Given the description of an element on the screen output the (x, y) to click on. 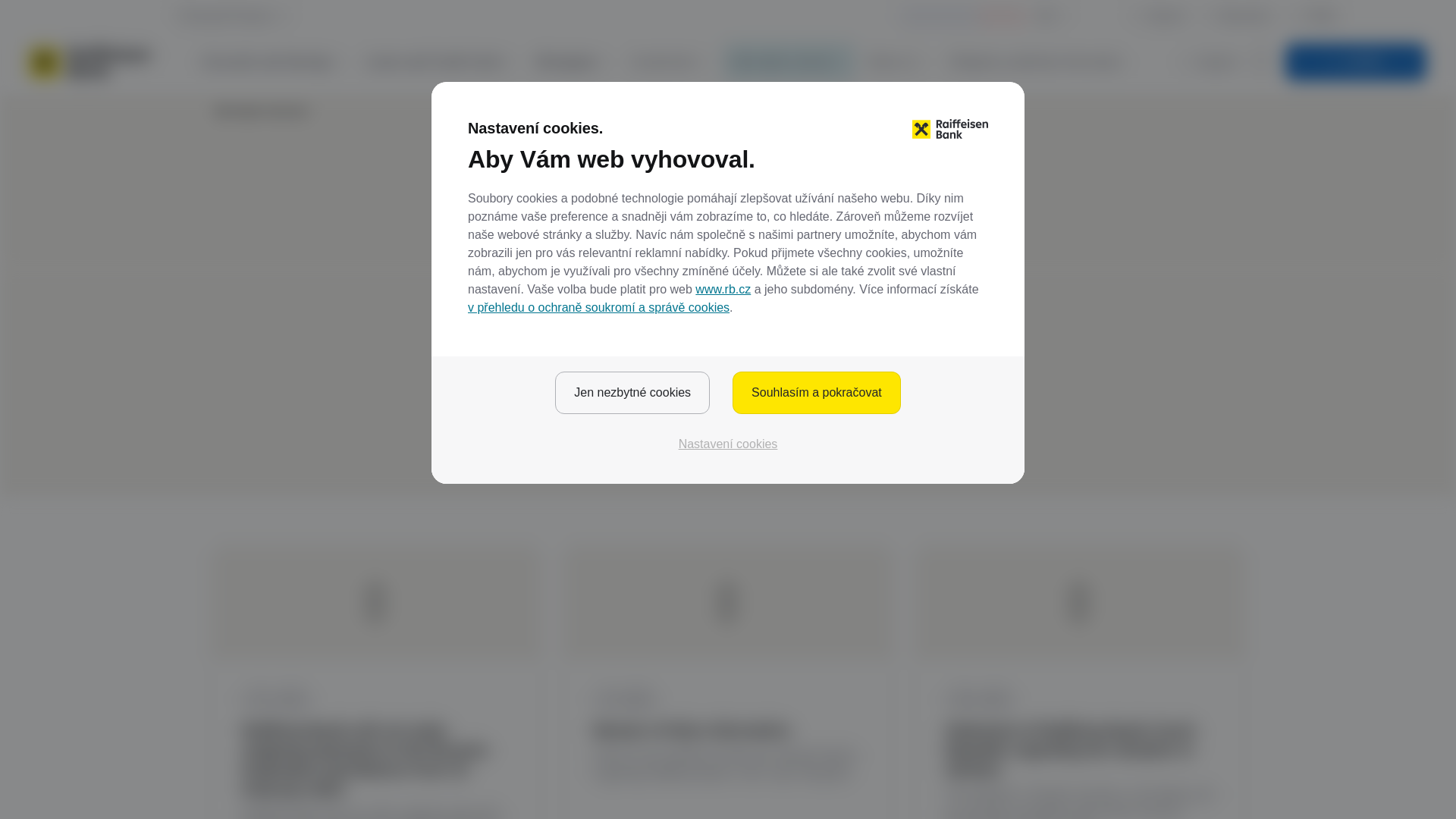
Investments (670, 61)
Information sevices (789, 61)
Raiffeisenbank (90, 61)
Mortgages (573, 61)
About us (898, 61)
Accounts and Savings (274, 61)
Loans and Credit Cards (440, 61)
